Given the description of an element on the screen output the (x, y) to click on. 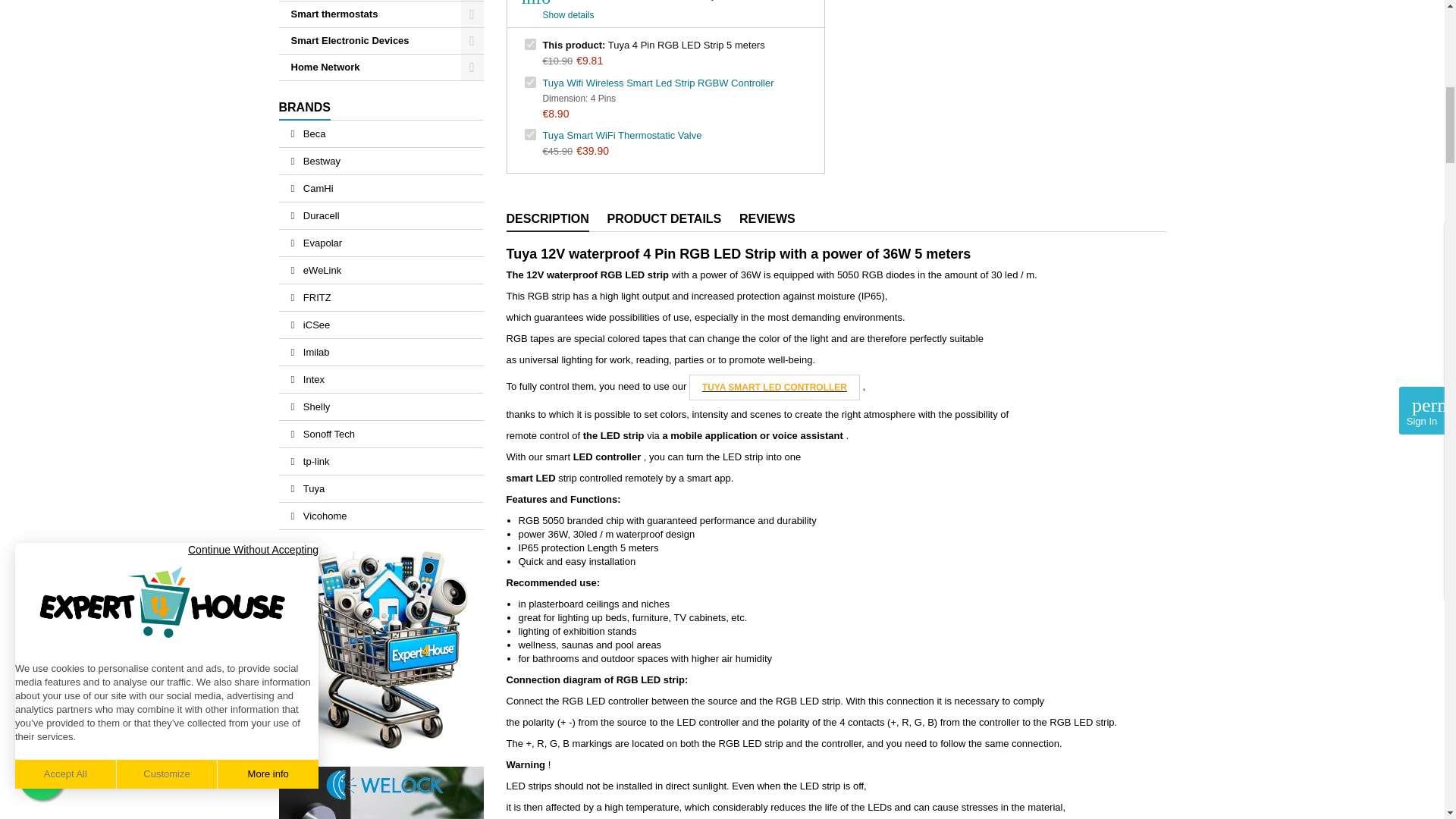
1 (529, 43)
1 (529, 134)
Brands (304, 108)
Bestway (381, 161)
1 (529, 81)
Beca (381, 133)
